Given the description of an element on the screen output the (x, y) to click on. 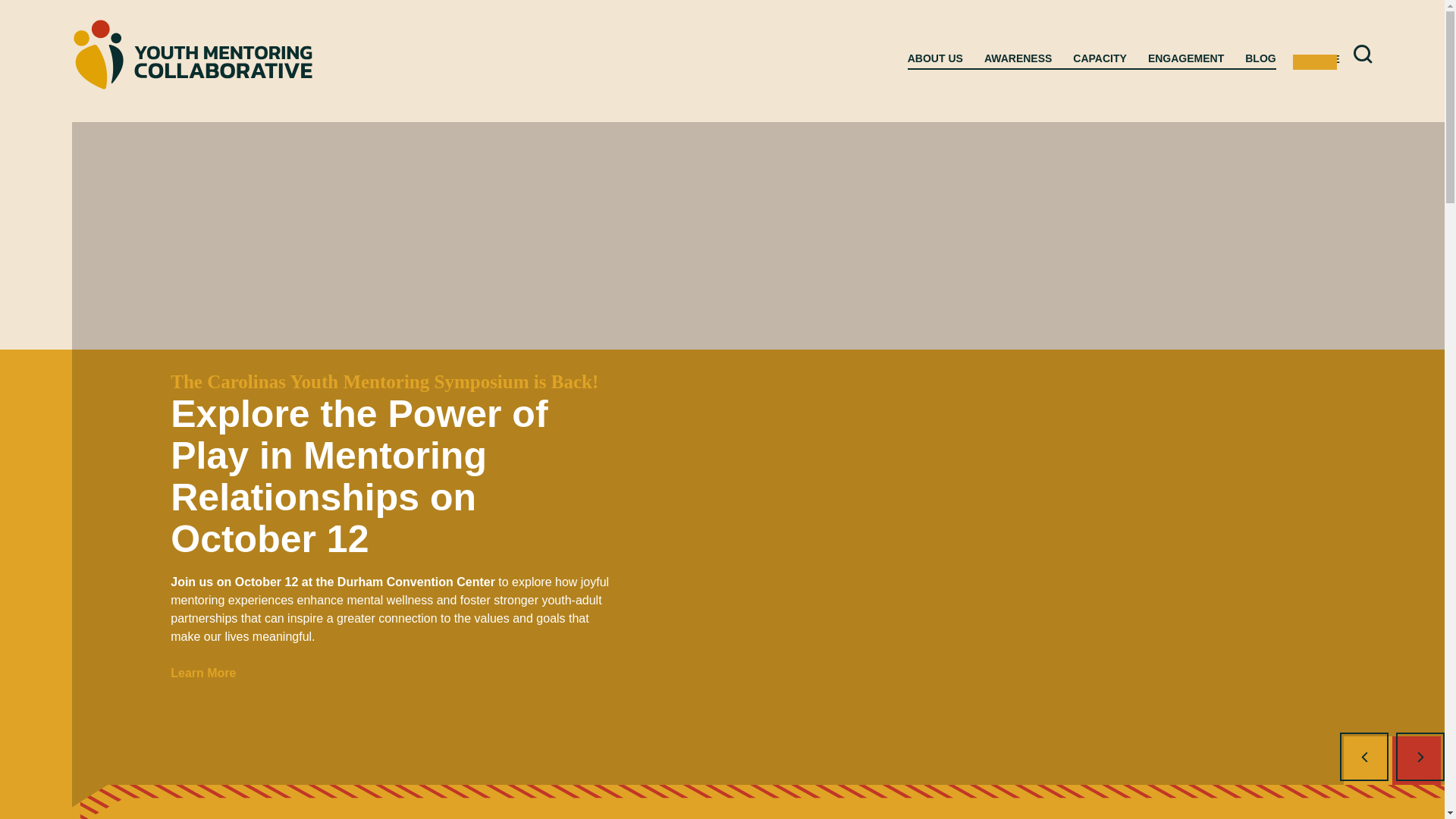
ABOUT US (934, 59)
AWARENESS (1017, 59)
ENGAGEMENT (1186, 59)
DONATE (1317, 58)
Next Slide (1420, 756)
BLOG (1259, 59)
CAPACITY (1099, 59)
Previous Slide (1364, 756)
